Given the description of an element on the screen output the (x, y) to click on. 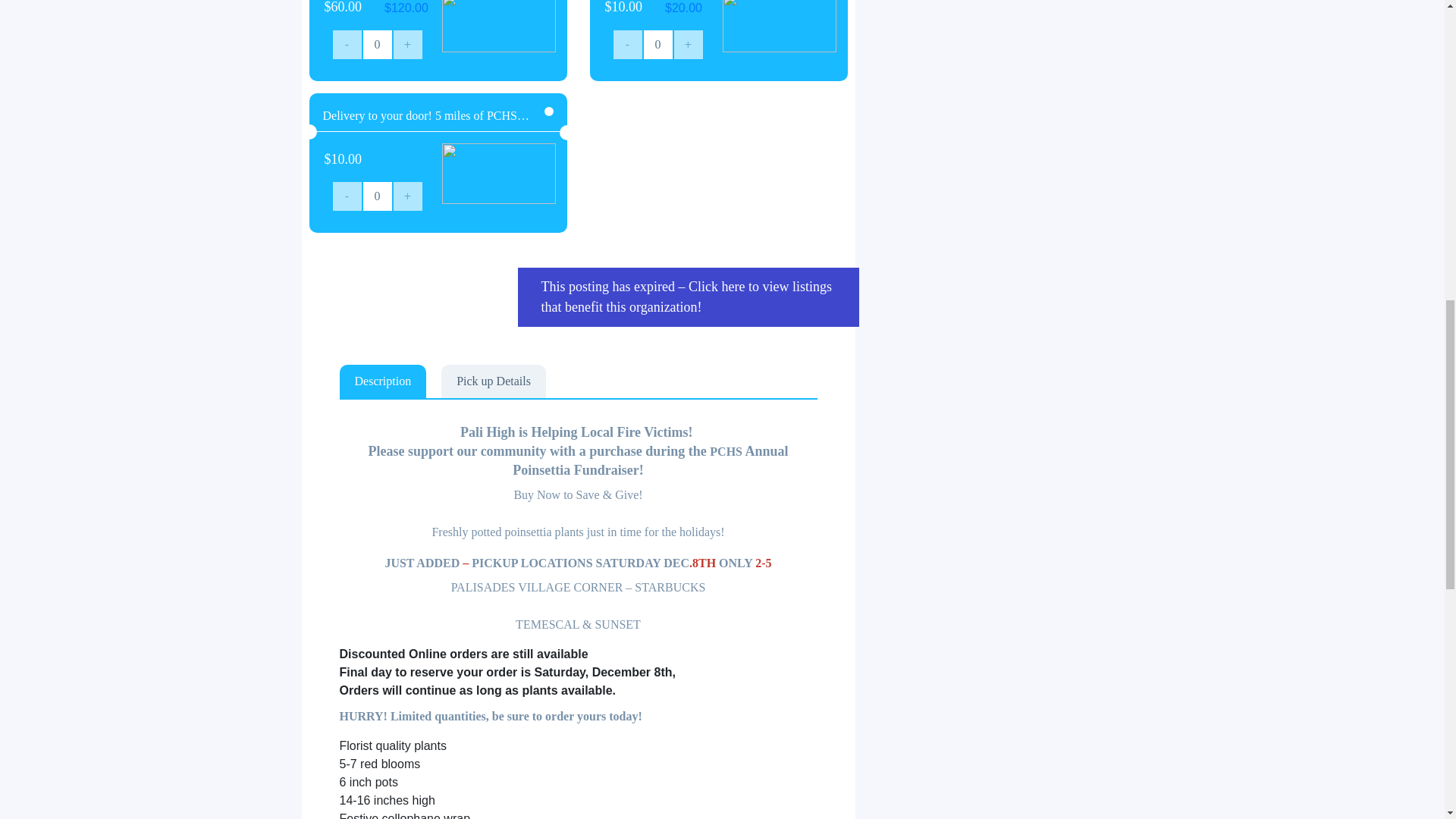
- (346, 44)
- (627, 44)
0 (377, 44)
- (346, 195)
Pick up Details (493, 381)
0 (657, 44)
Description (382, 381)
0 (377, 195)
